Given the description of an element on the screen output the (x, y) to click on. 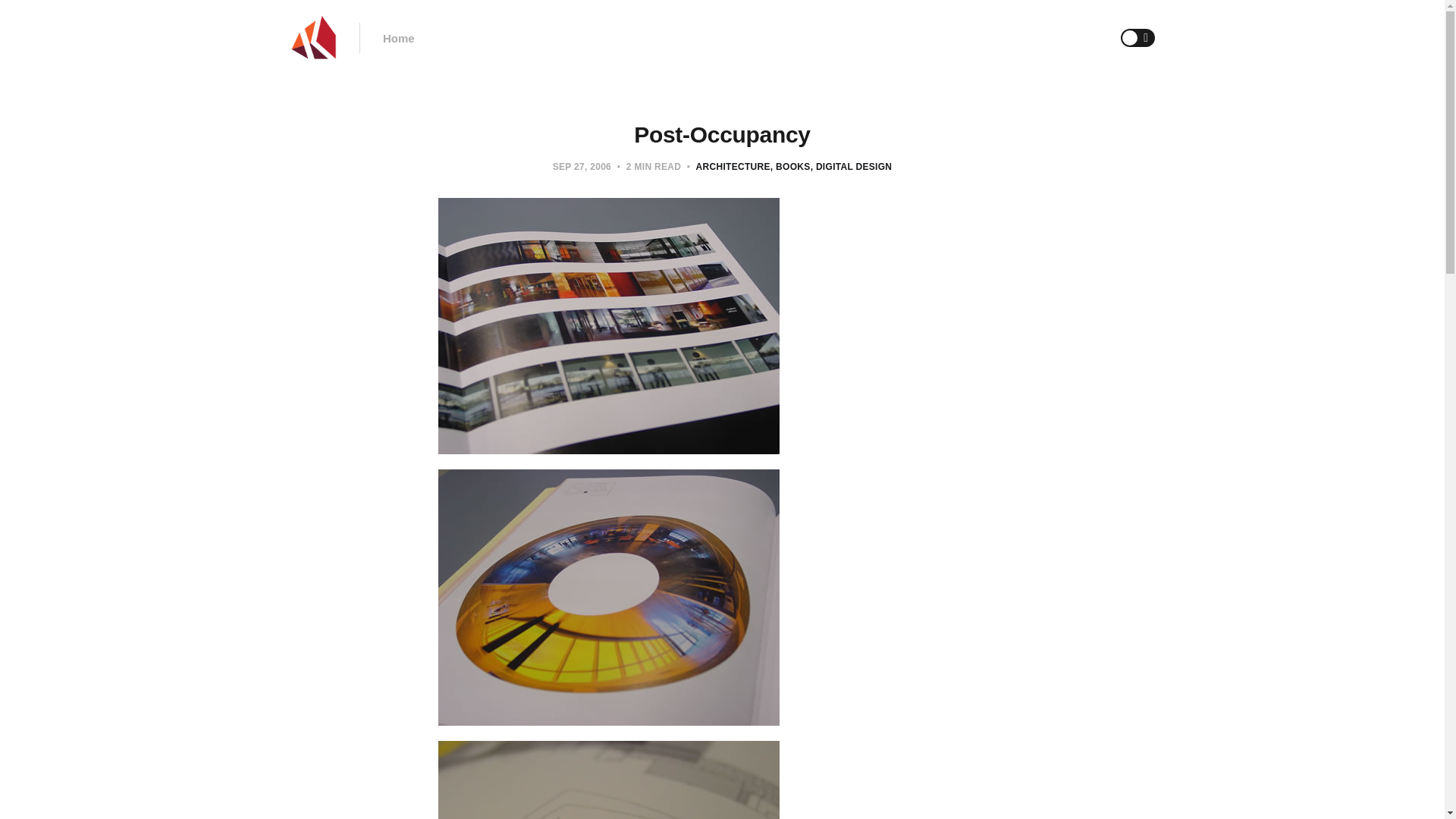
ARCHITECTURE (732, 166)
DIGITAL DESIGN (851, 166)
Home (398, 38)
BOOKS (790, 166)
Digital design (851, 166)
Architecture (732, 166)
Books (790, 166)
